Given the description of an element on the screen output the (x, y) to click on. 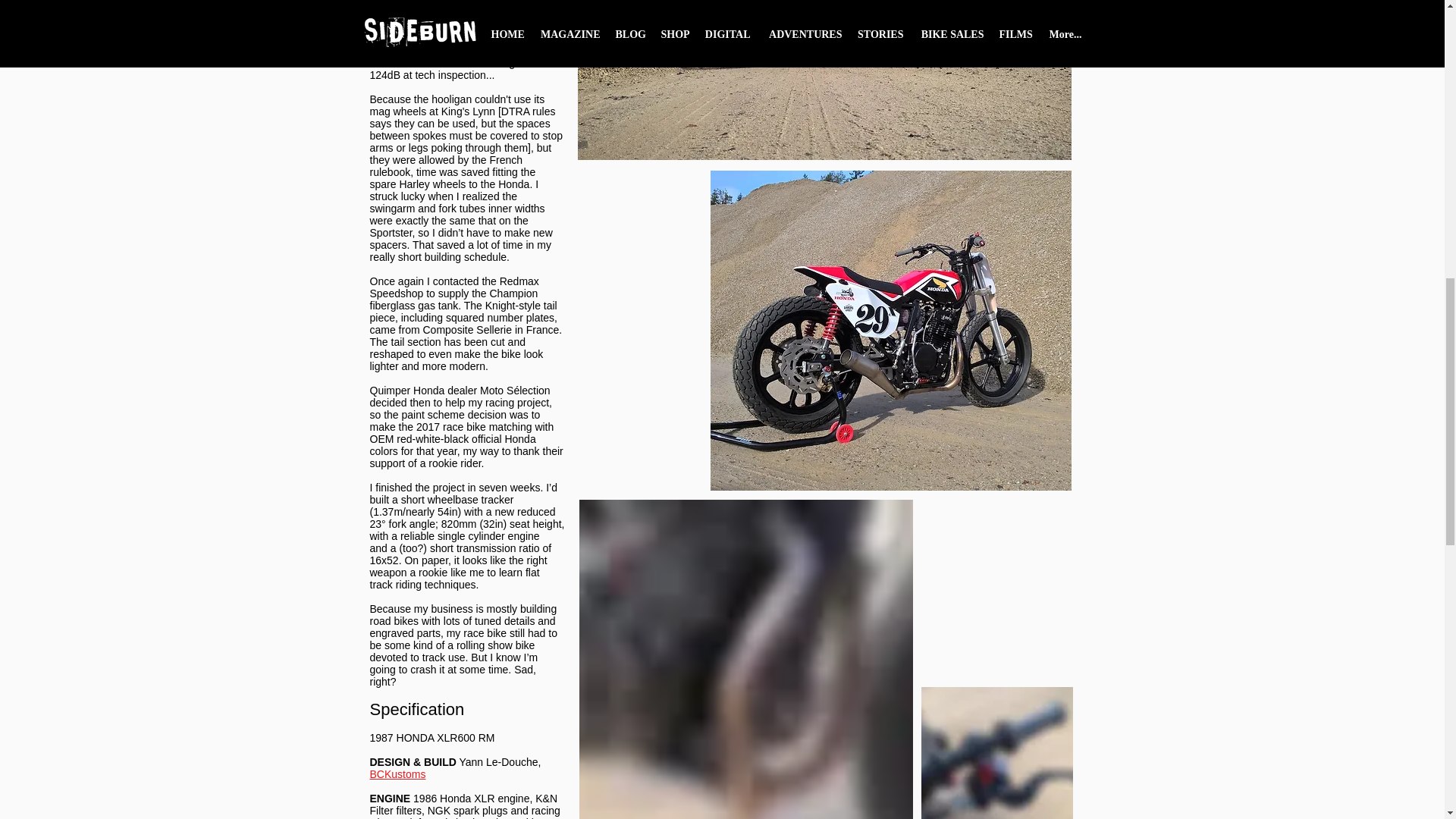
BCKustoms (397, 774)
